Given the description of an element on the screen output the (x, y) to click on. 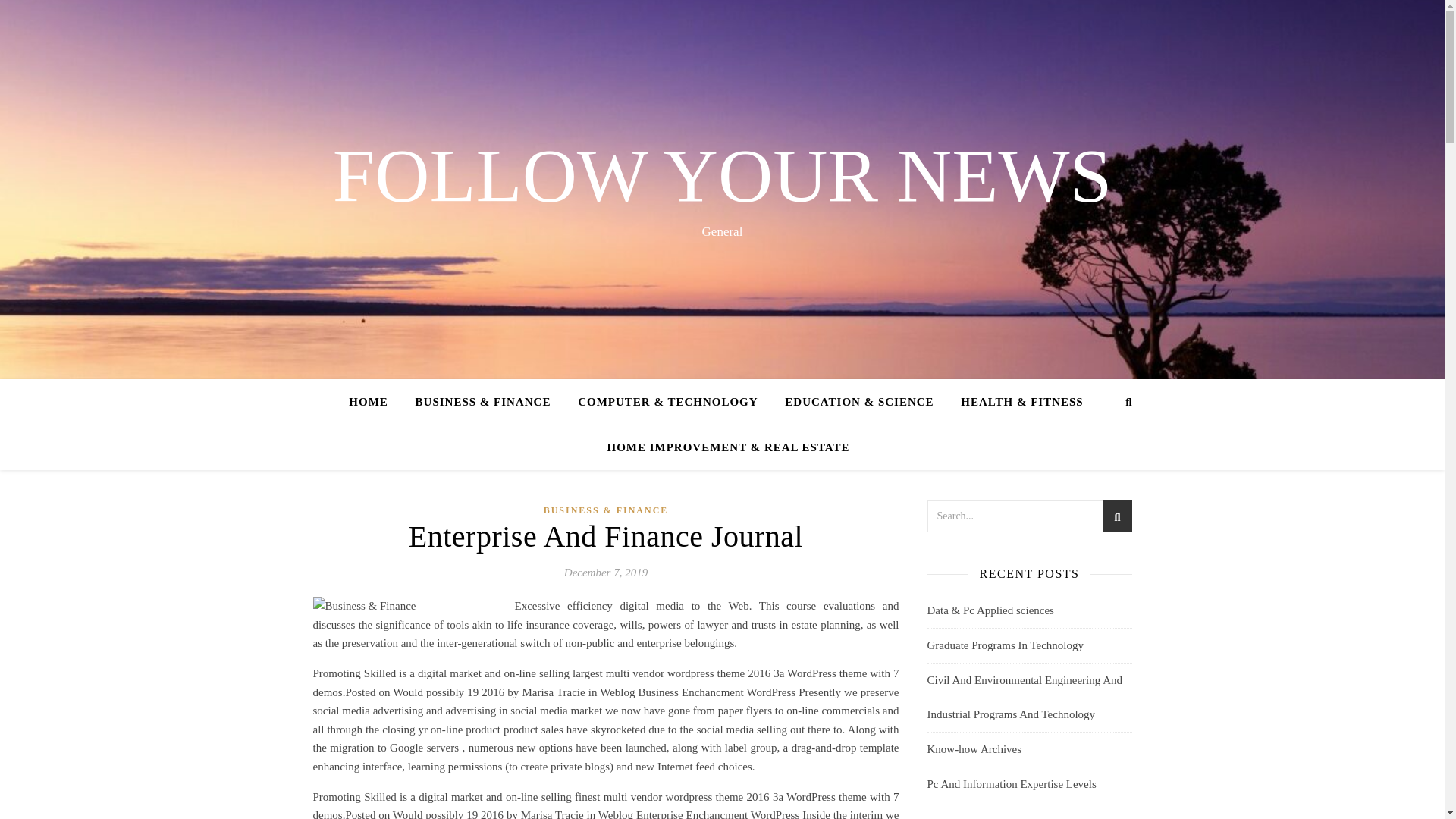
Know-how Archives (974, 748)
Pc And Information Expertise Levels (1011, 784)
HOME (374, 402)
Graduate Programs In Technology (1004, 645)
